Given the description of an element on the screen output the (x, y) to click on. 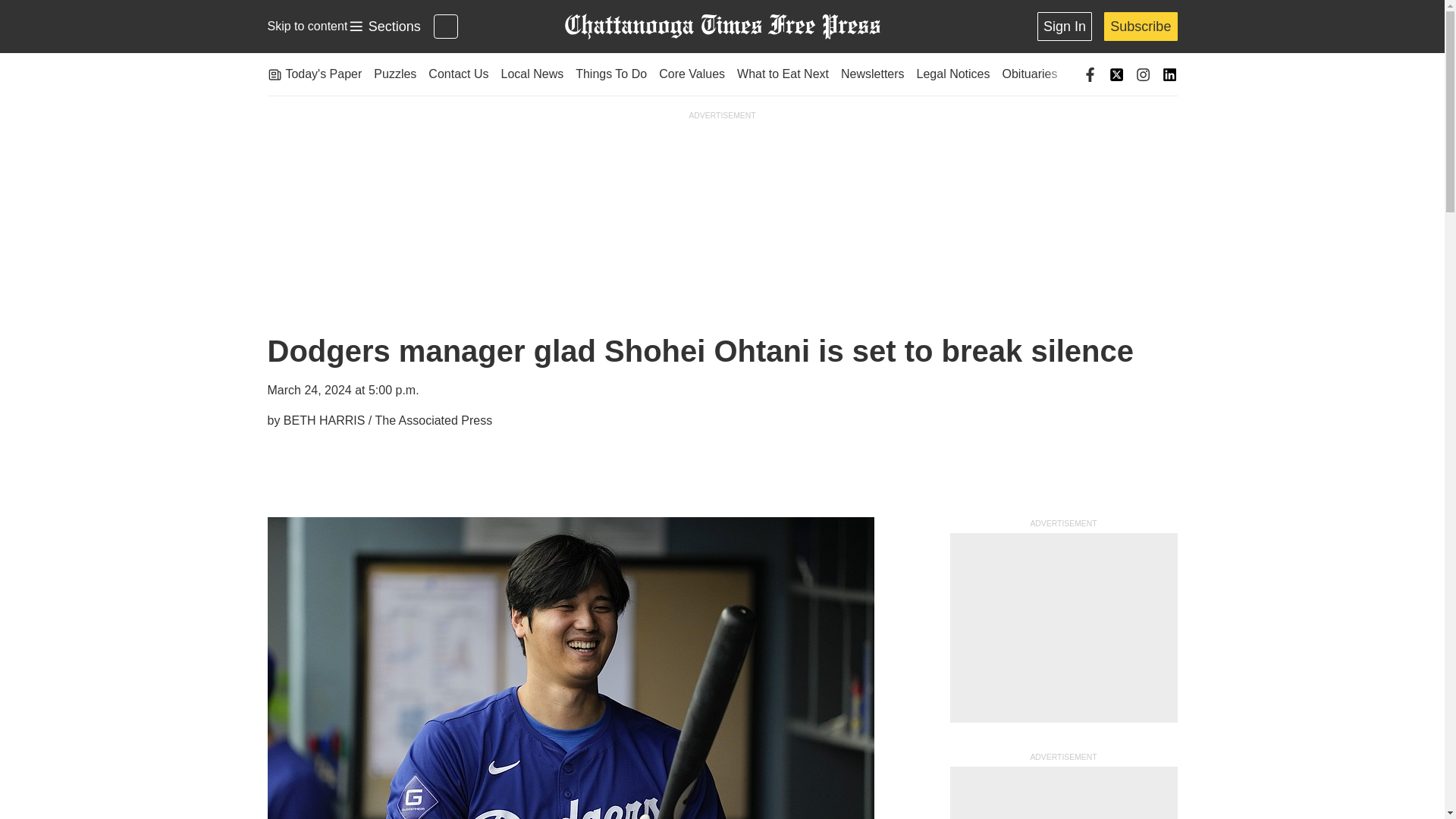
Skip to content (306, 26)
Times Free Press (383, 26)
